Given the description of an element on the screen output the (x, y) to click on. 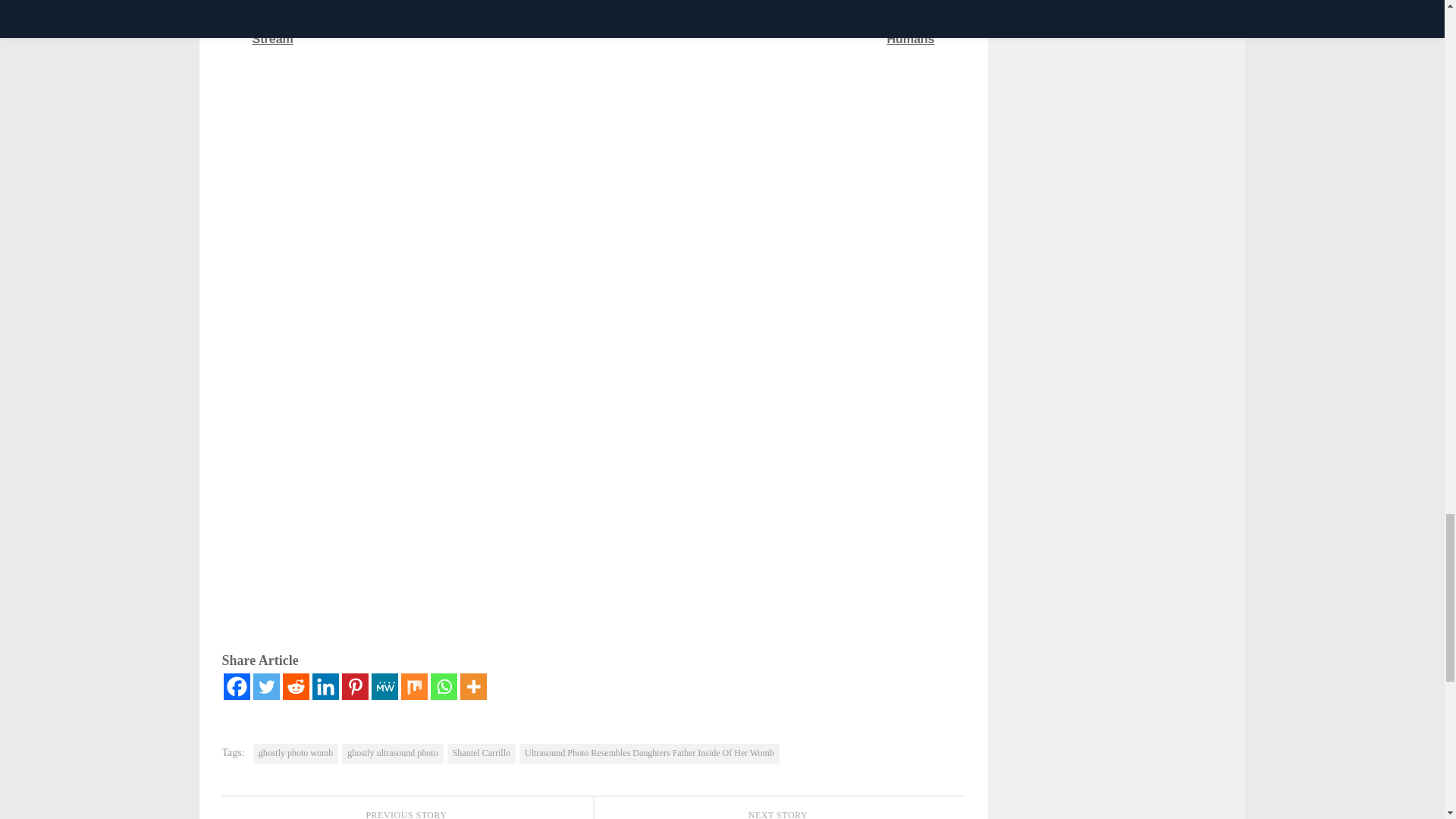
Reddit (295, 686)
Facebook (235, 686)
Linkedin (326, 686)
Twitter (266, 686)
